Given the description of an element on the screen output the (x, y) to click on. 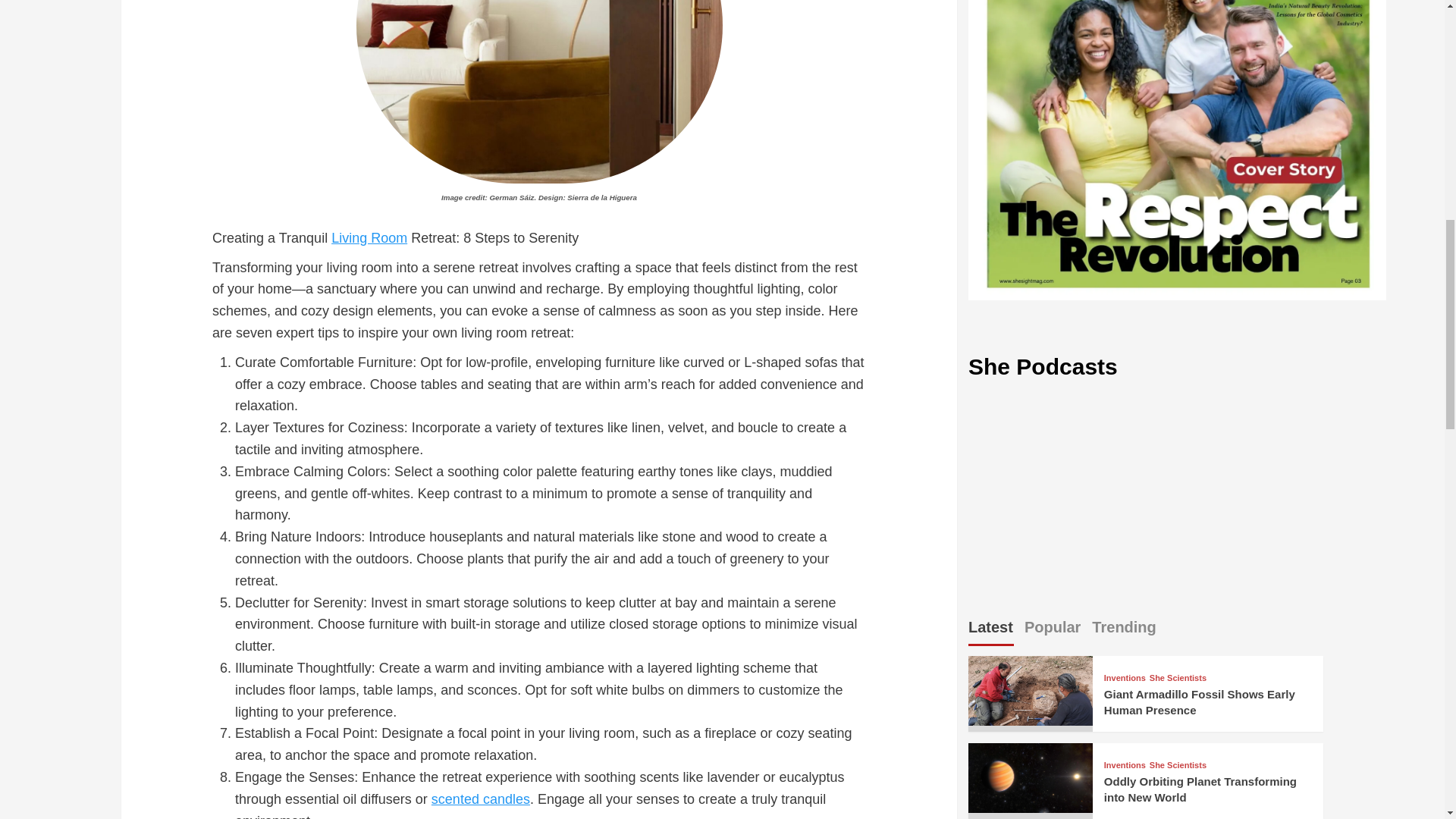
Latest Edition (1177, 150)
